Given the description of an element on the screen output the (x, y) to click on. 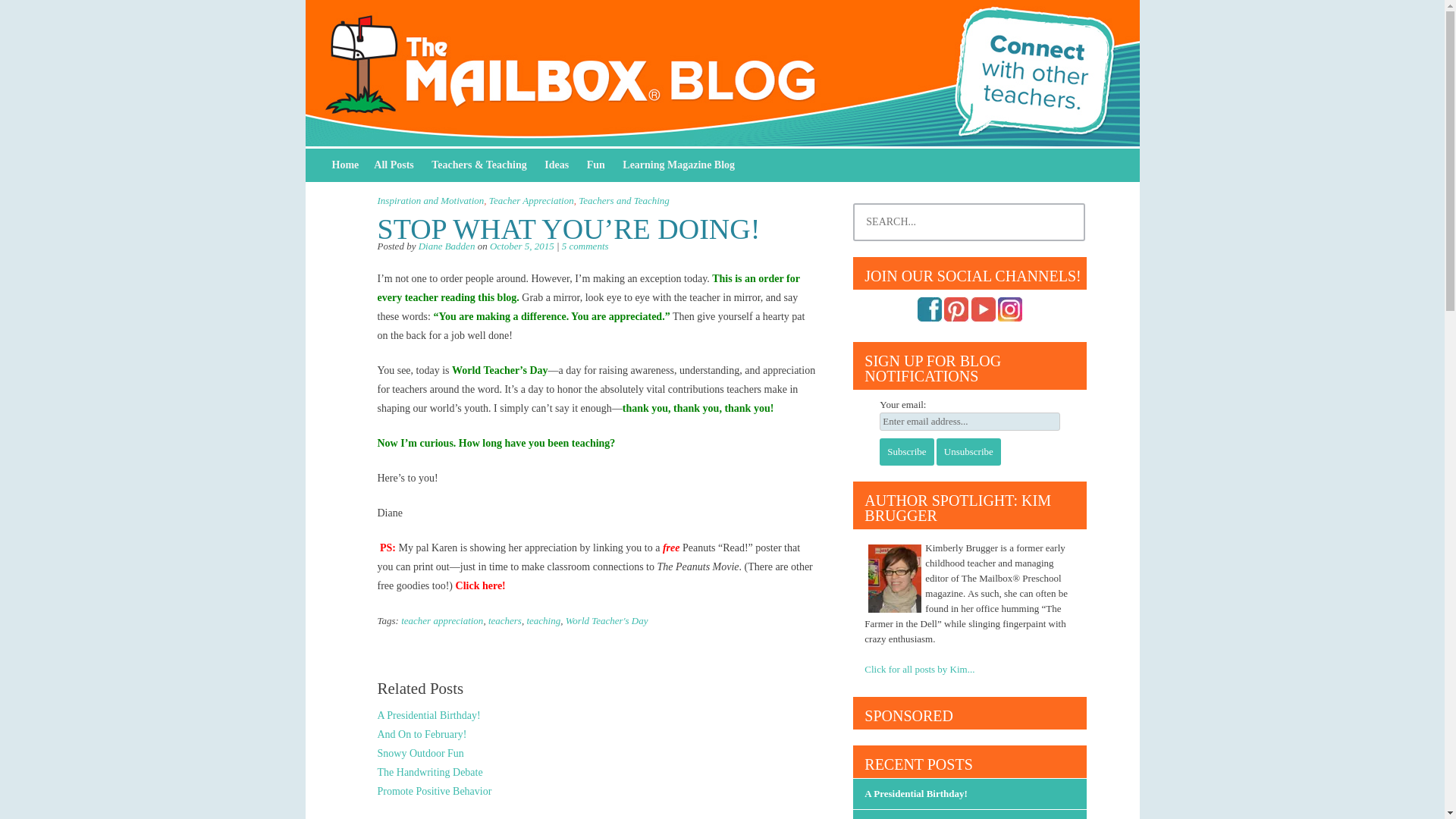
teacher appreciation (442, 620)
Inspiration and Motivation (430, 200)
Search (21, 13)
A Presidential Birthday! (428, 715)
Skip to content (346, 165)
Diane Badden (447, 245)
And On to February! (422, 734)
Search for: (968, 221)
October 5, 2015 (521, 245)
Teachers and Teaching (623, 200)
The Handwriting Debate (430, 772)
lmb (678, 164)
Skip to content (346, 165)
Fun (595, 164)
Subscribe (906, 452)
